Given the description of an element on the screen output the (x, y) to click on. 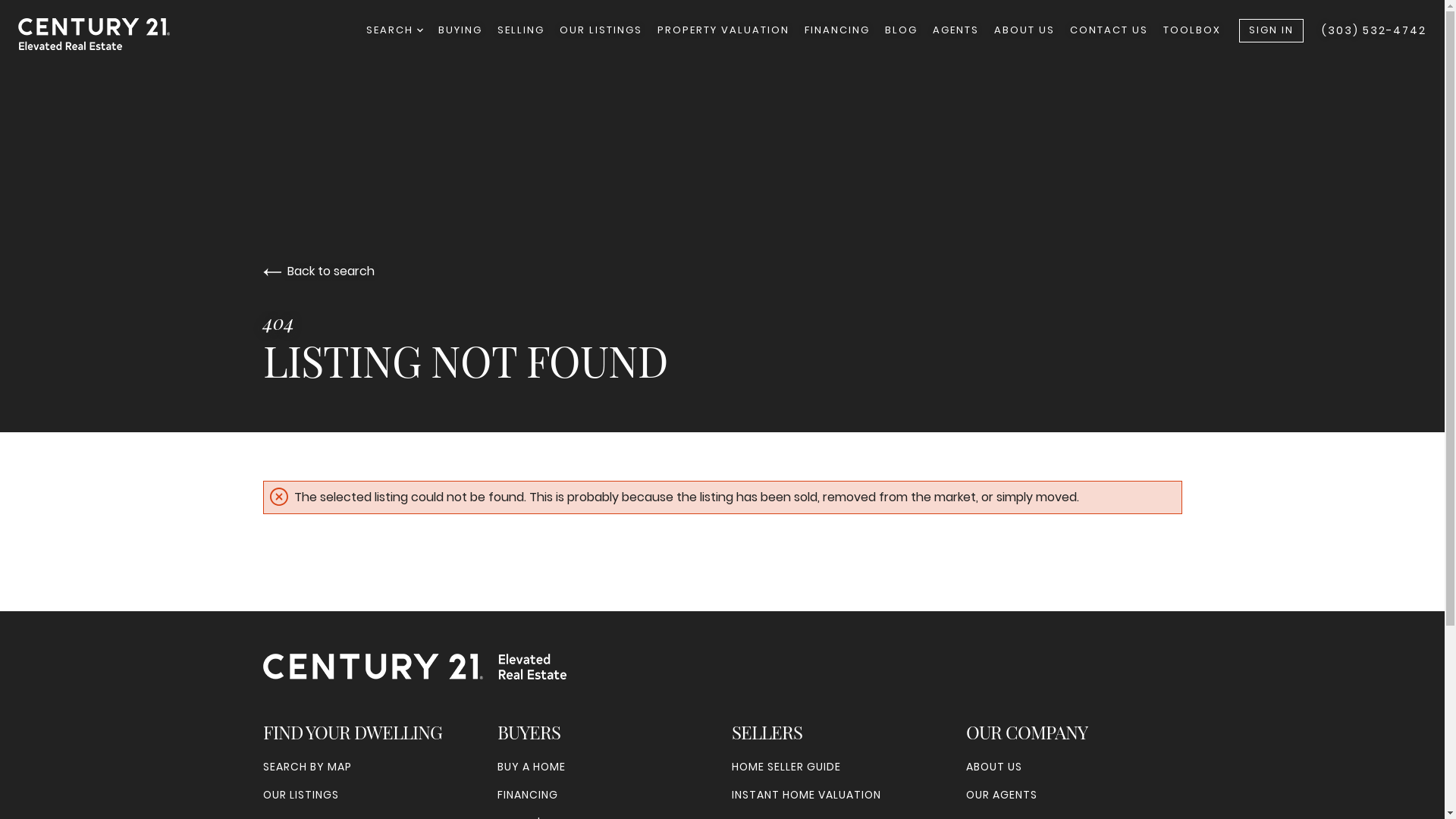
PROPERTY VALUATION Element type: text (723, 30)
CONTACT US Element type: text (1109, 30)
INSTANT HOME VALUATION Element type: text (805, 795)
SEARCH DROPDOWN ARROW Element type: text (394, 30)
SIGN IN Element type: text (1271, 30)
BUY A HOME Element type: text (531, 767)
TOOLBOX Element type: text (1191, 30)
OUR LISTINGS Element type: text (300, 795)
FINANCING Element type: text (836, 30)
(303) 532-4742 Element type: text (1373, 30)
BUYING Element type: text (460, 30)
OUR LISTINGS Element type: text (600, 30)
OUR AGENTS Element type: text (1001, 795)
AGENTS Element type: text (955, 30)
ABOUT US Element type: text (1024, 30)
Back to search Element type: text (317, 270)
BLOG Element type: text (900, 30)
HOME SELLER GUIDE Element type: text (785, 767)
SELLING Element type: text (520, 30)
ABOUT US Element type: text (994, 767)
FINANCING Element type: text (527, 795)
SEARCH BY MAP Element type: text (306, 767)
